Given the description of an element on the screen output the (x, y) to click on. 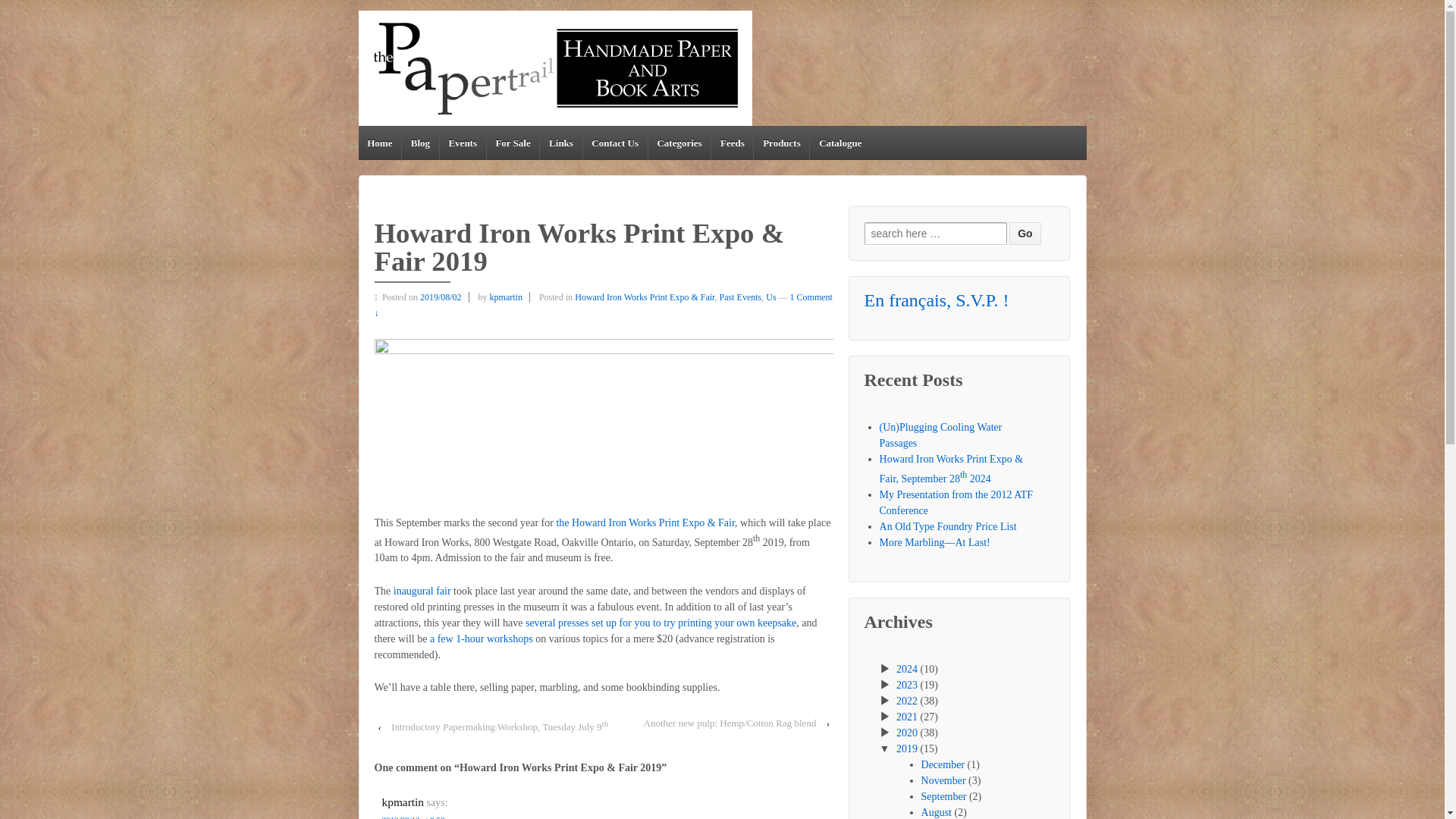
Categories (679, 142)
Products (780, 142)
An Old Type Foundry Price List (947, 526)
Go (1025, 232)
Links (559, 142)
Past Events (740, 296)
kpmartin (505, 296)
My Presentation from the 2012 ATF Conference (956, 502)
inaugural fair (422, 591)
Blog (420, 142)
Contact Us (614, 142)
Events (462, 142)
2024 (906, 668)
Feeds (731, 142)
View all posts by kpmartin (505, 296)
